Given the description of an element on the screen output the (x, y) to click on. 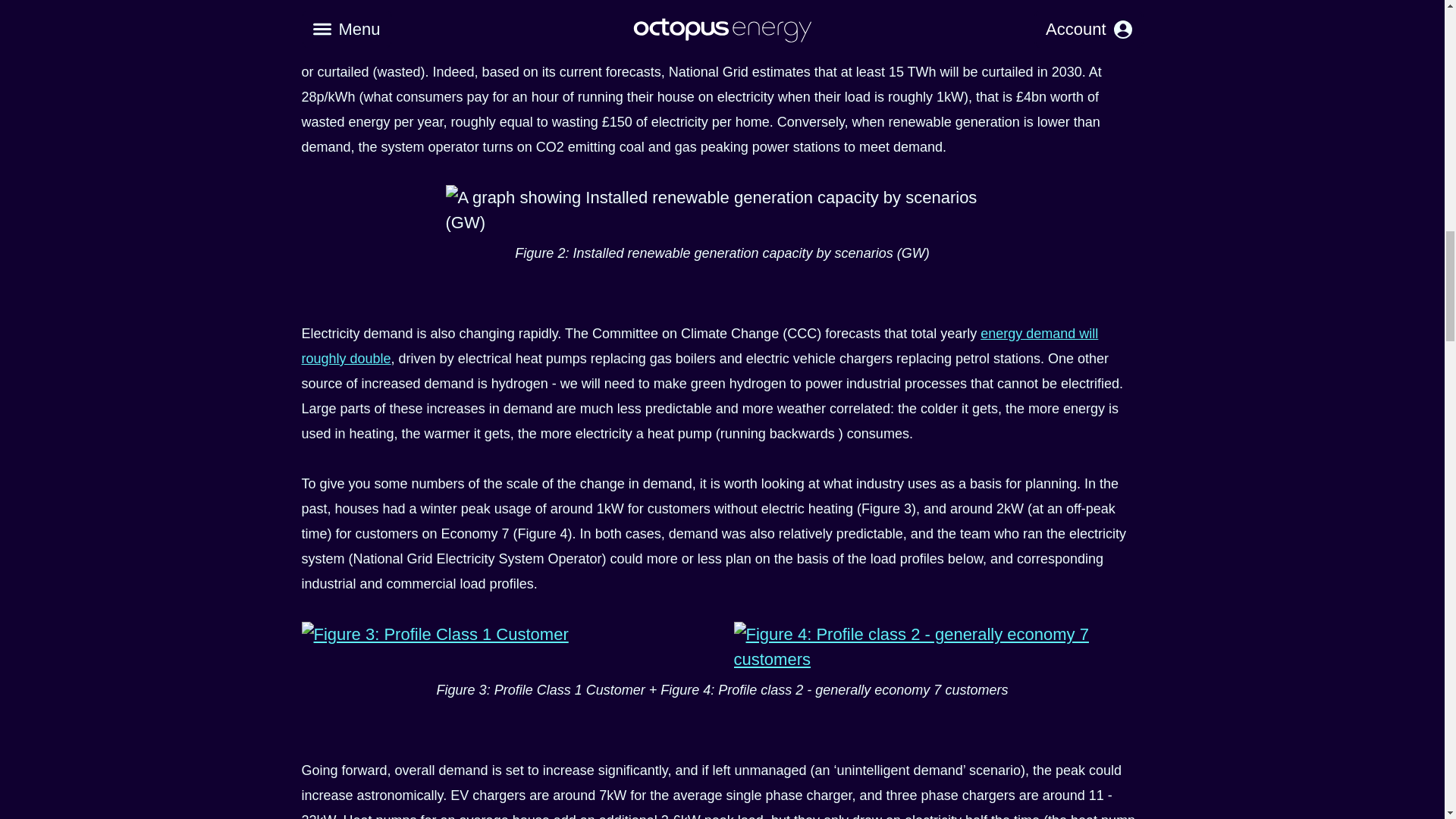
Future Energy Scenarios (512, 21)
energy demand will roughly double (700, 345)
